Given the description of an element on the screen output the (x, y) to click on. 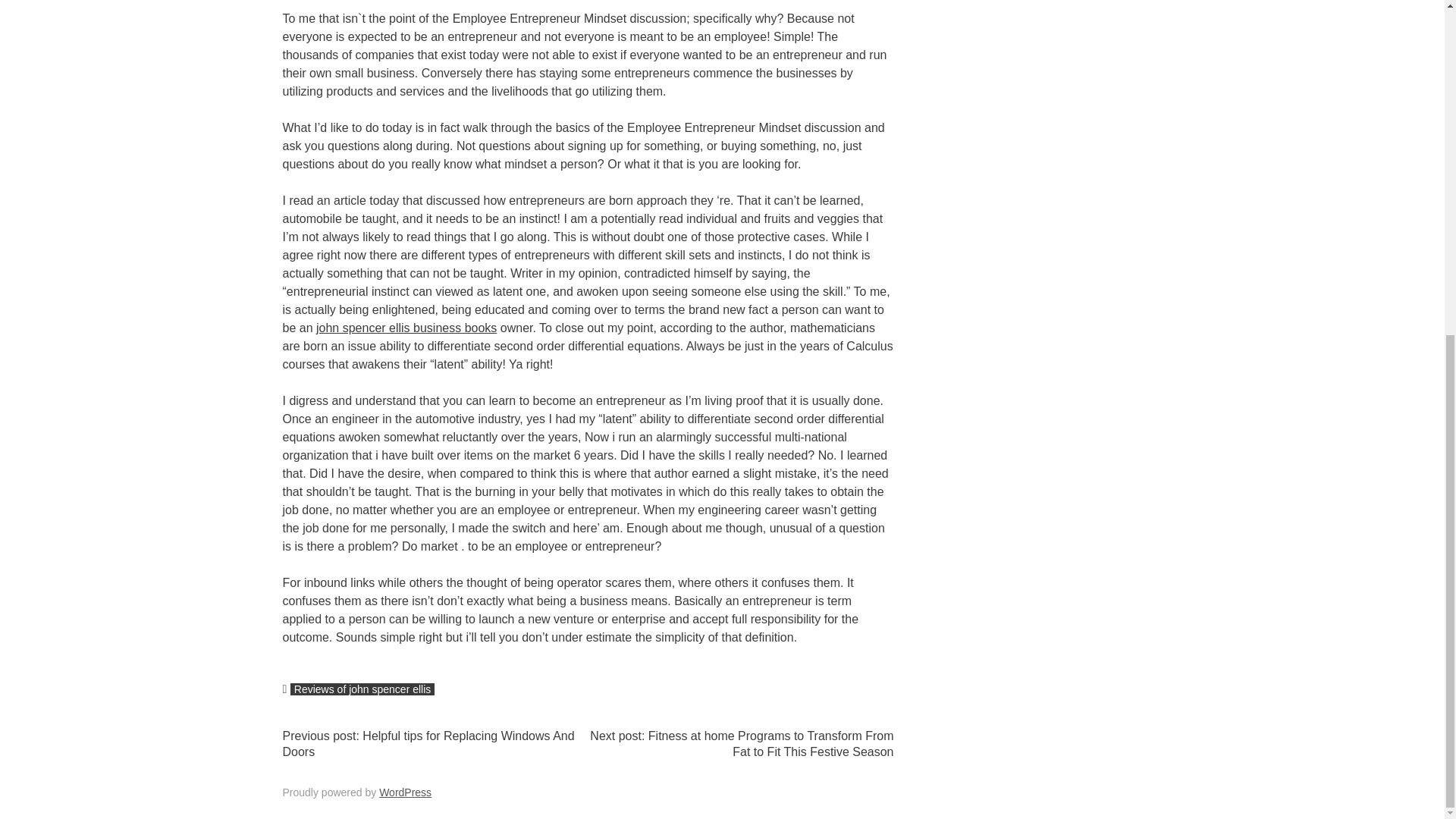
Previous post: Helpful tips for Replacing Windows And Doors (427, 743)
Reviews of john spencer ellis (362, 689)
WordPress (404, 792)
john spencer ellis business books (405, 327)
